Given the description of an element on the screen output the (x, y) to click on. 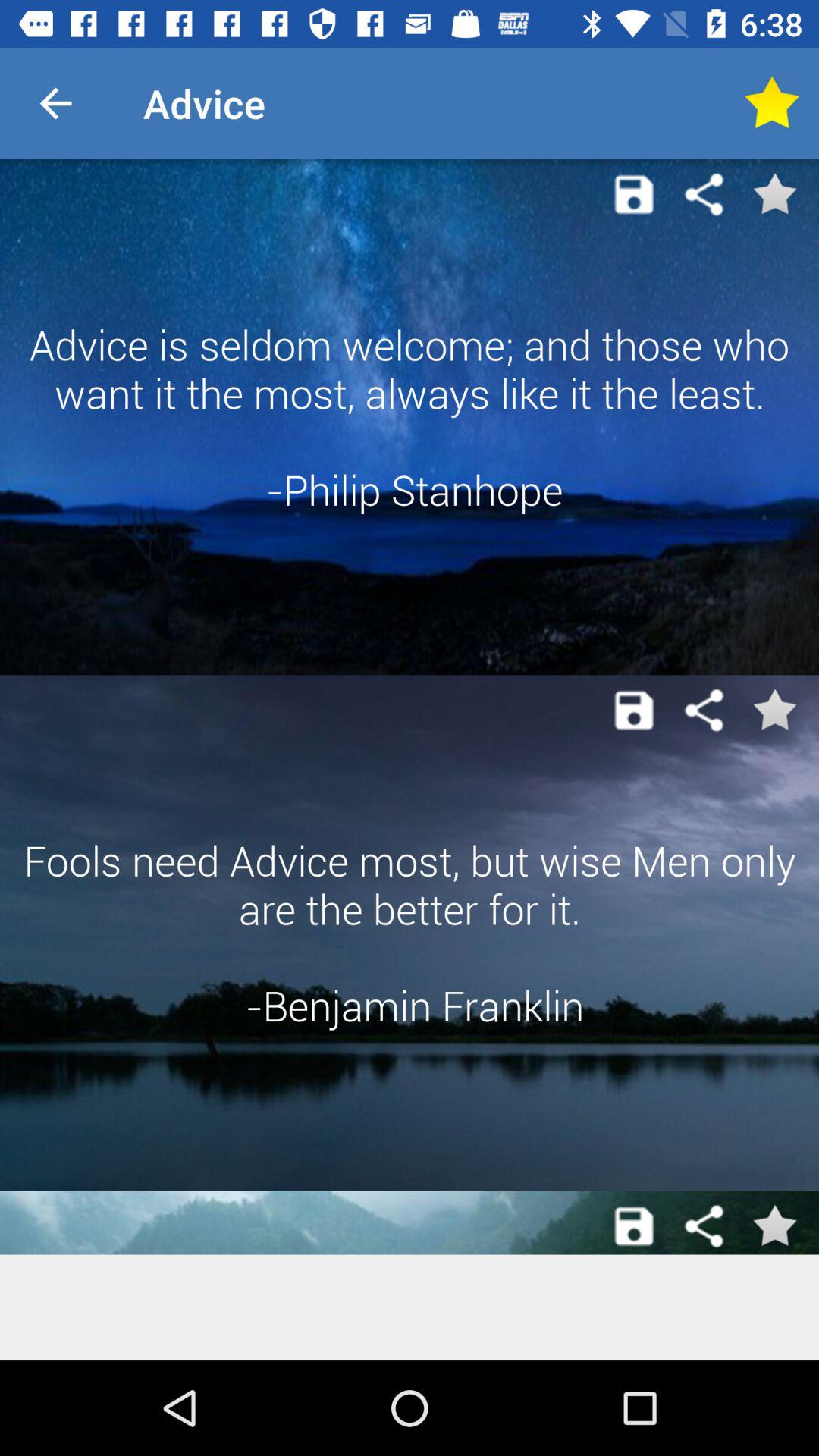
click to save option (634, 1226)
